Given the description of an element on the screen output the (x, y) to click on. 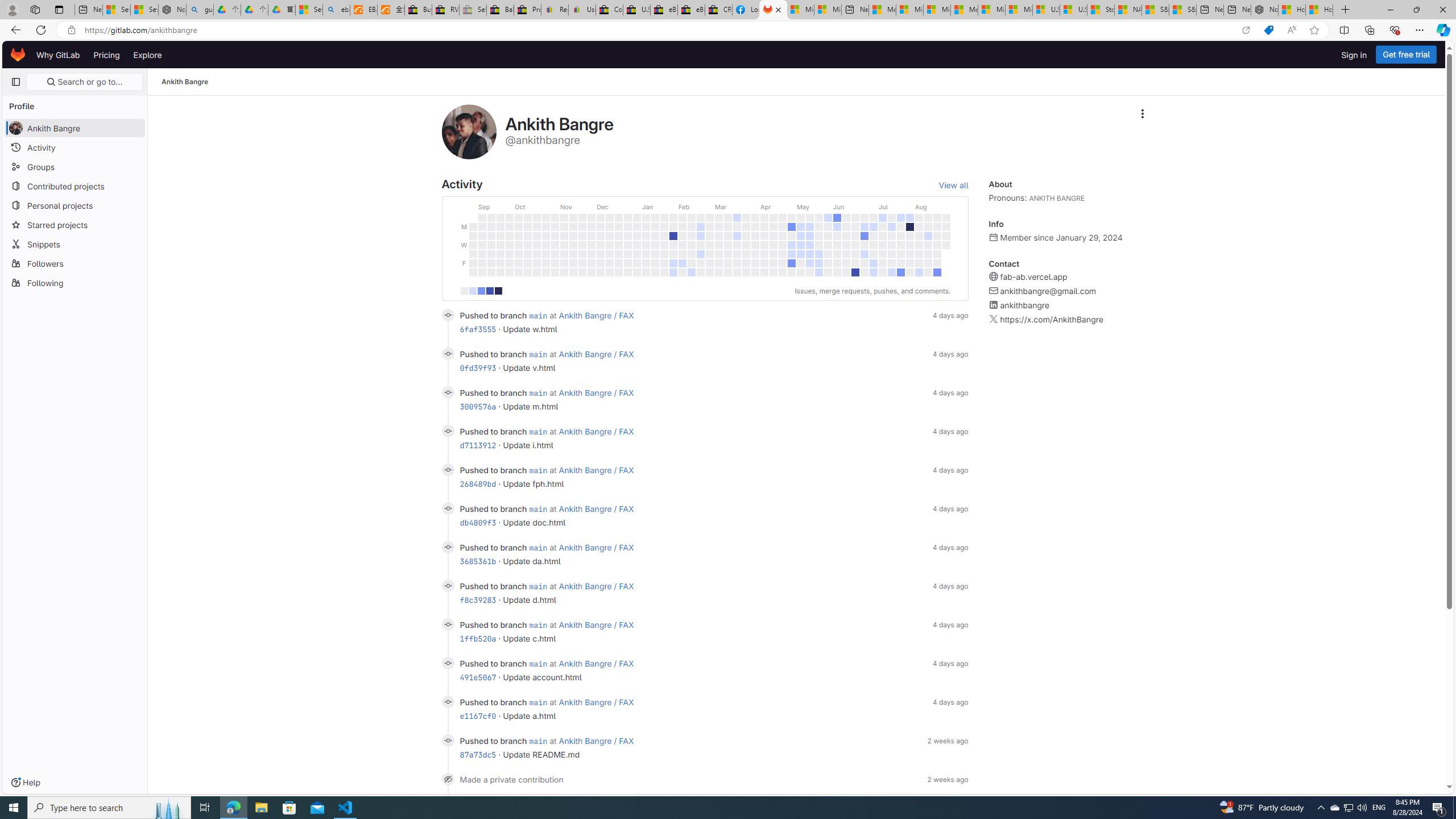
d7113912 (478, 445)
ebay - Search (336, 9)
491e5067 (478, 677)
